Given the description of an element on the screen output the (x, y) to click on. 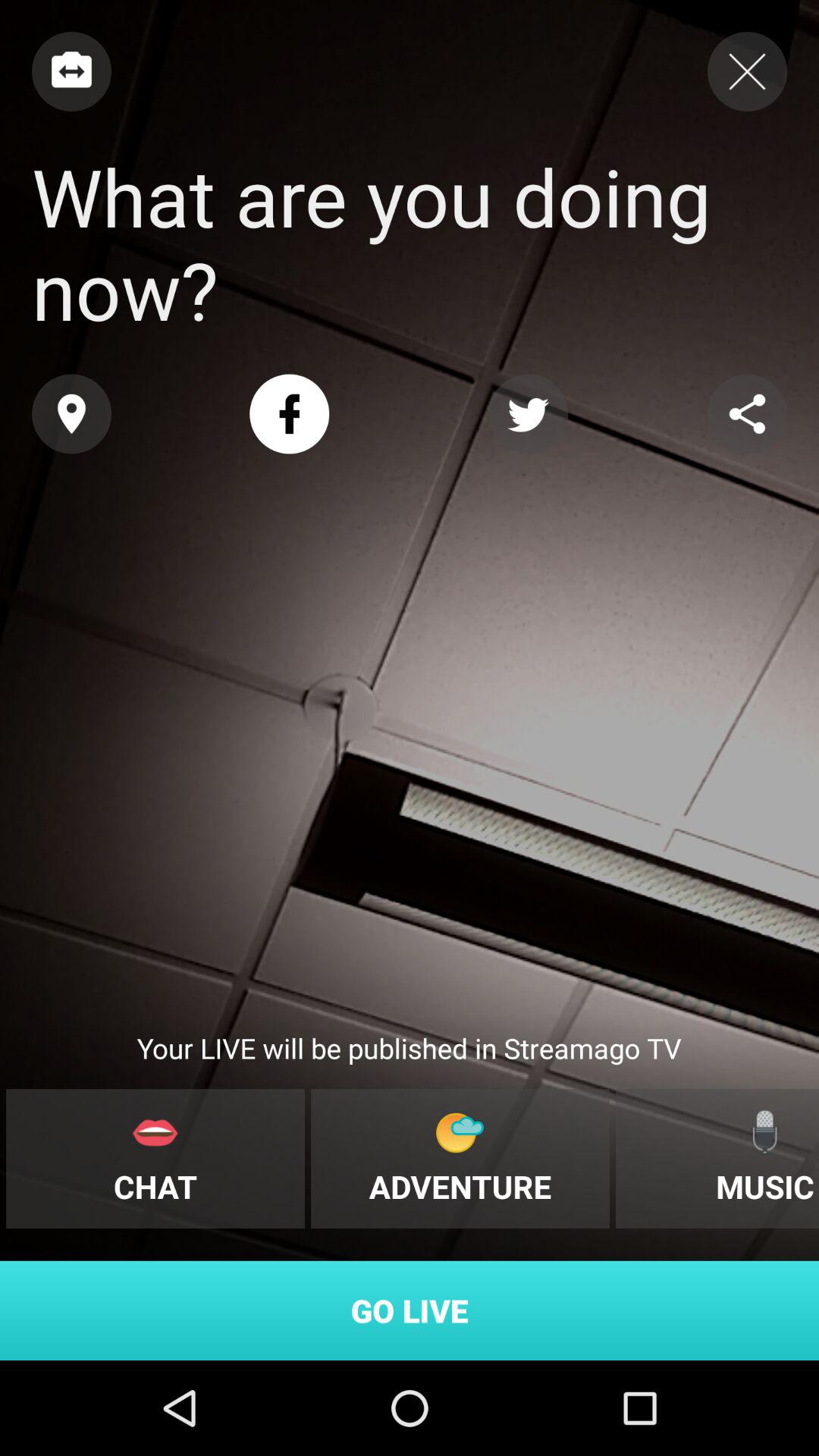
open go live icon (409, 1310)
